Given the description of an element on the screen output the (x, y) to click on. 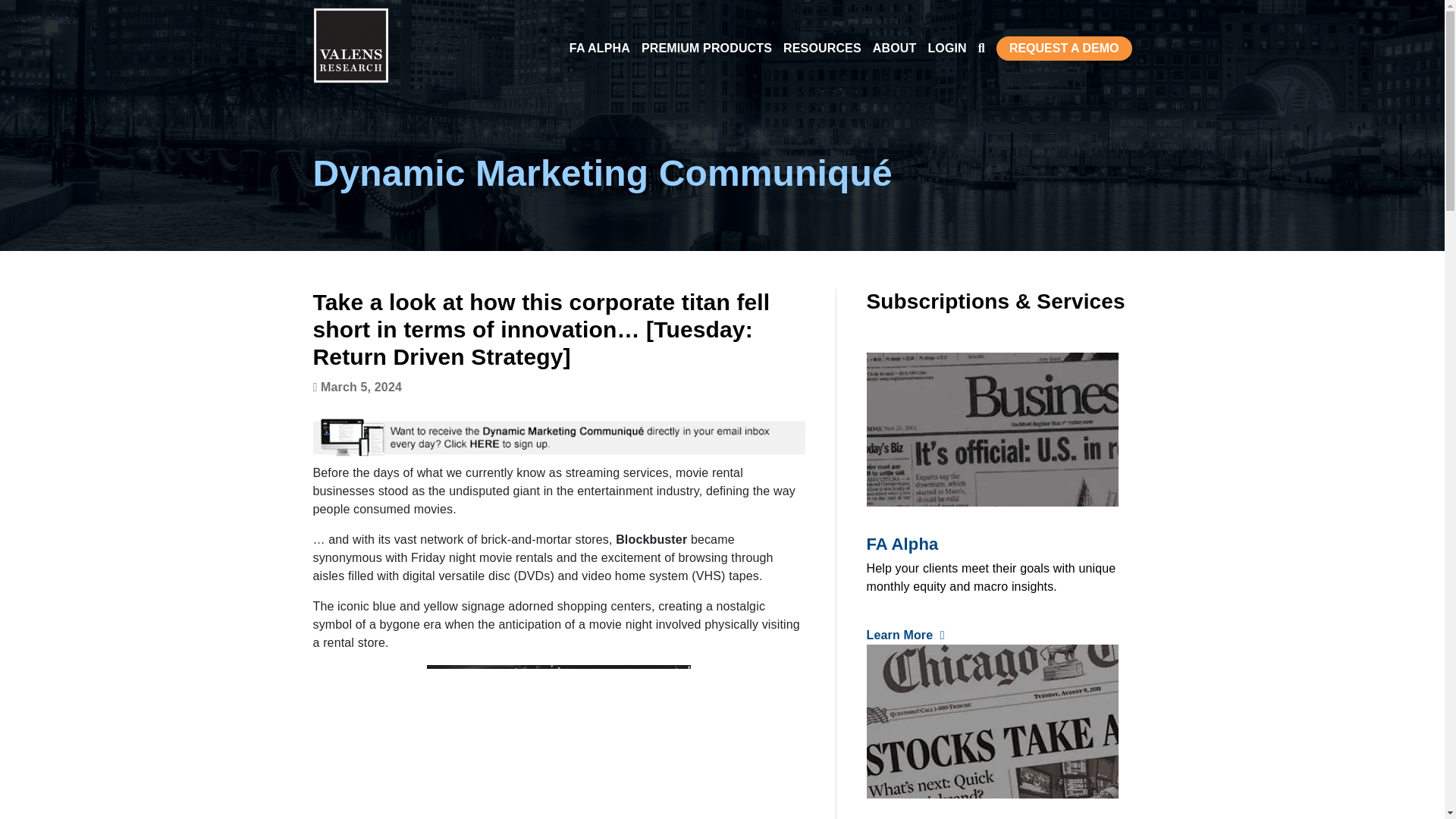
FA ALPHA (599, 47)
REQUEST A DEMO (1063, 48)
ABOUT (894, 47)
RESOURCES (822, 47)
LOGIN (946, 47)
PREMIUM PRODUCTS (706, 47)
Learn More (904, 634)
